Given the description of an element on the screen output the (x, y) to click on. 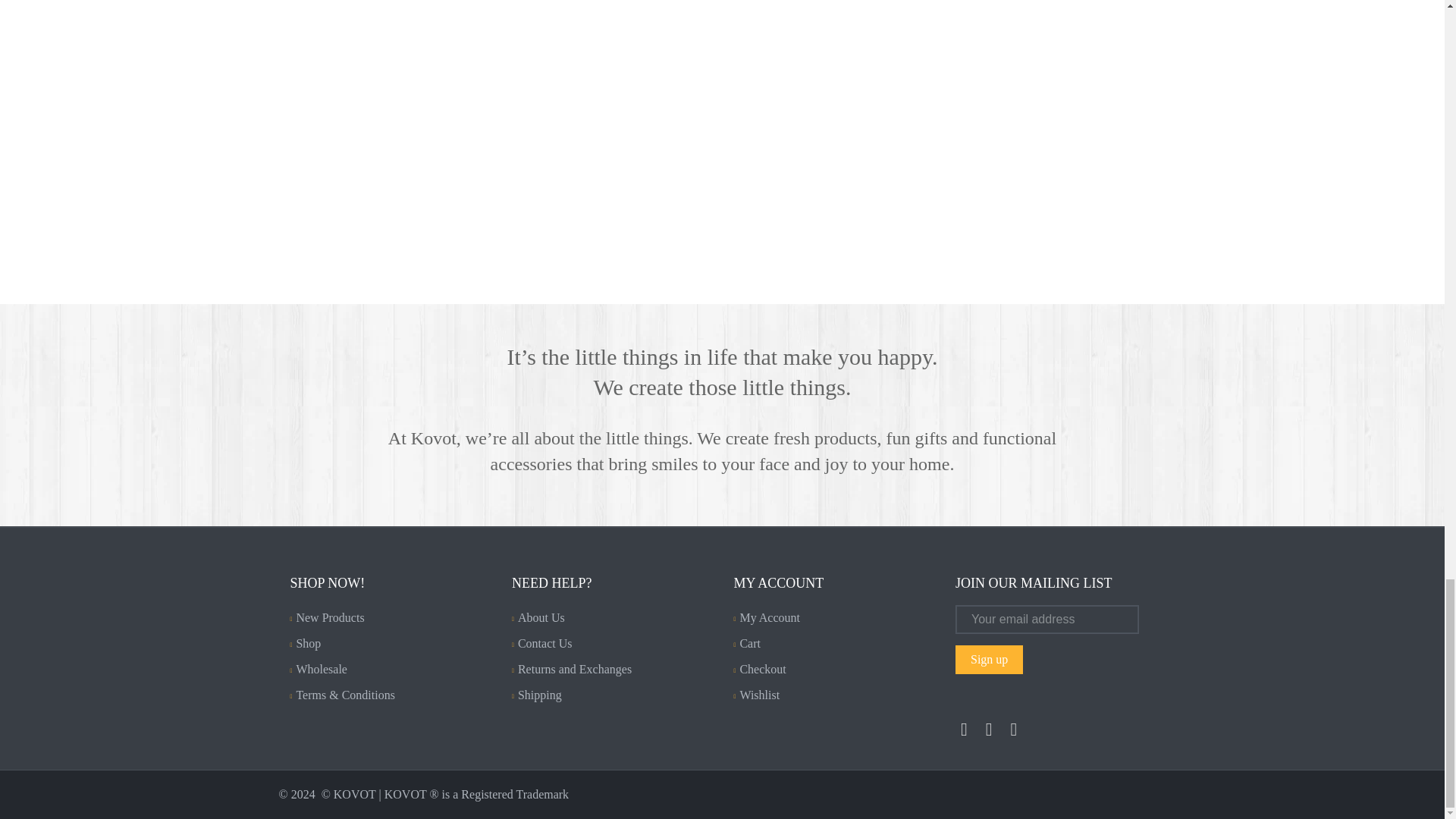
Sign up (989, 659)
